Given the description of an element on the screen output the (x, y) to click on. 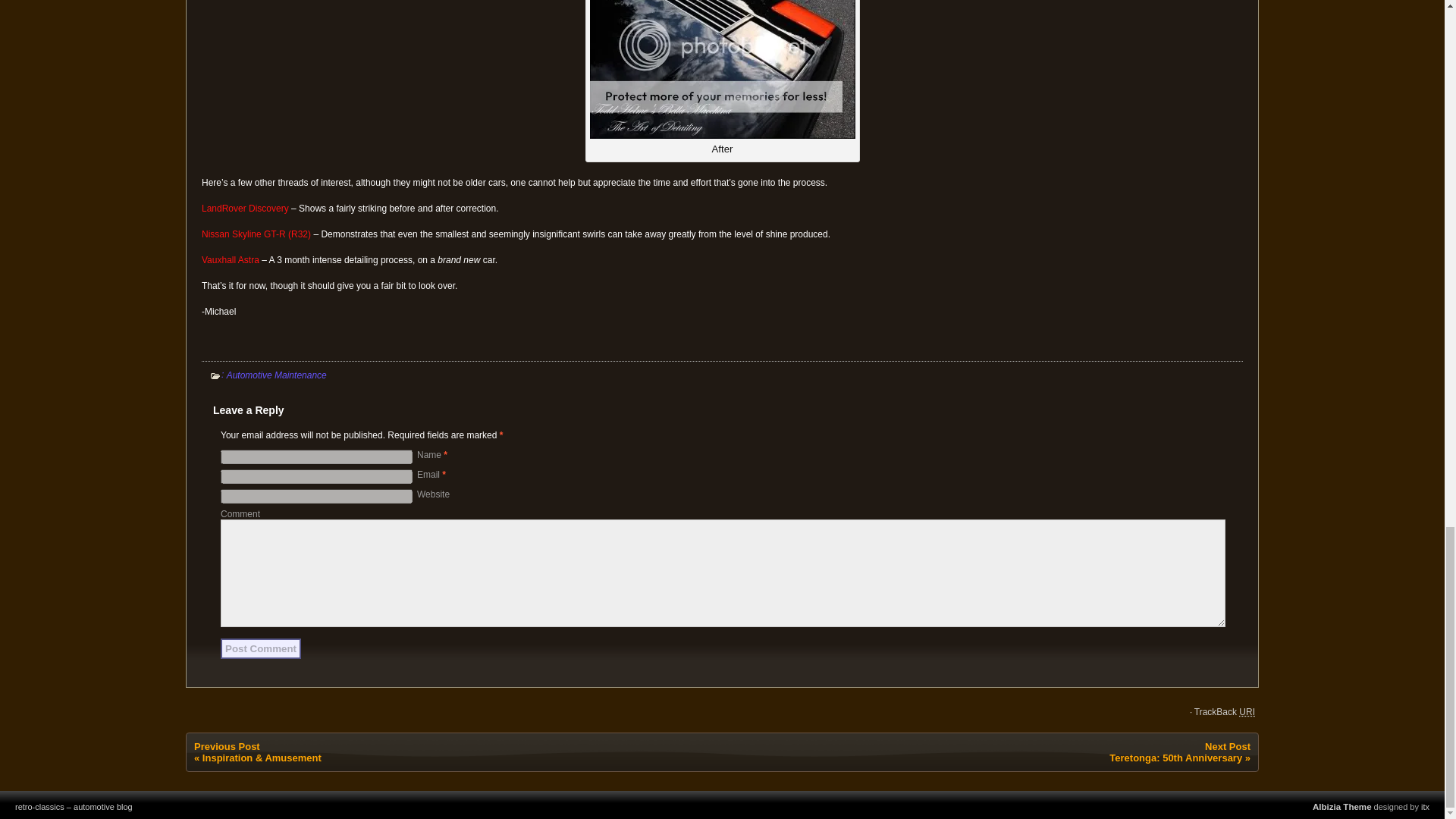
Uniform Resource Identifier (1247, 711)
Ferrari (722, 69)
Post Comment (261, 648)
Automotive Maintenance (276, 375)
LandRover Discovery (245, 208)
TrackBack URI (1224, 711)
Vauxhall Astra (230, 259)
Teretonga: 50th Anniversary (1175, 757)
View all posts in Automotive Maintenance (276, 375)
Post Comment (261, 648)
